Given the description of an element on the screen output the (x, y) to click on. 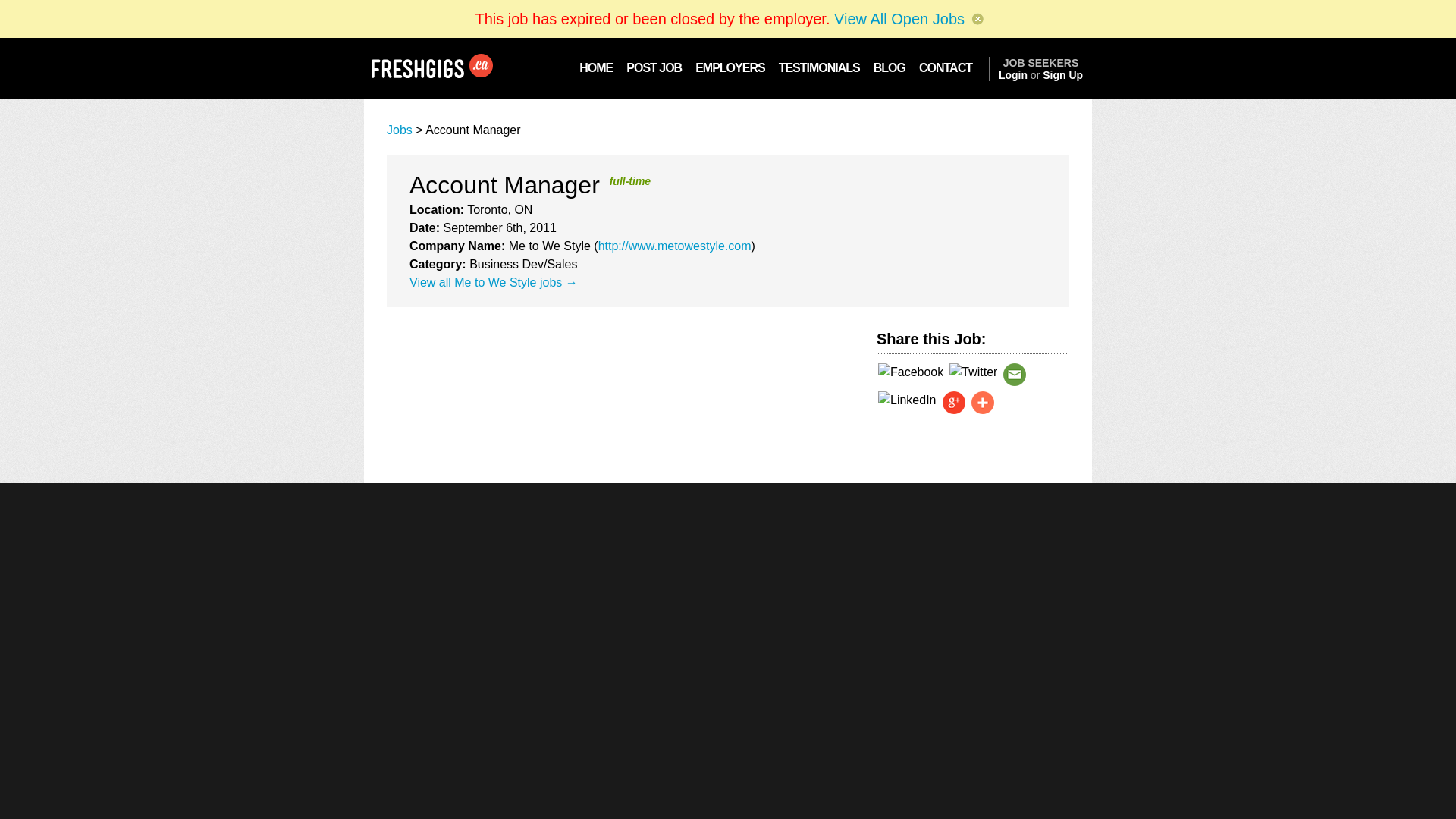
Login (1012, 74)
TESTIMONIALS (818, 67)
CONTACT (950, 67)
Sign Up (1062, 74)
Jobs (399, 129)
POST JOB (654, 67)
View All Open Jobs (898, 18)
EMPLOYERS (729, 67)
